Given the description of an element on the screen output the (x, y) to click on. 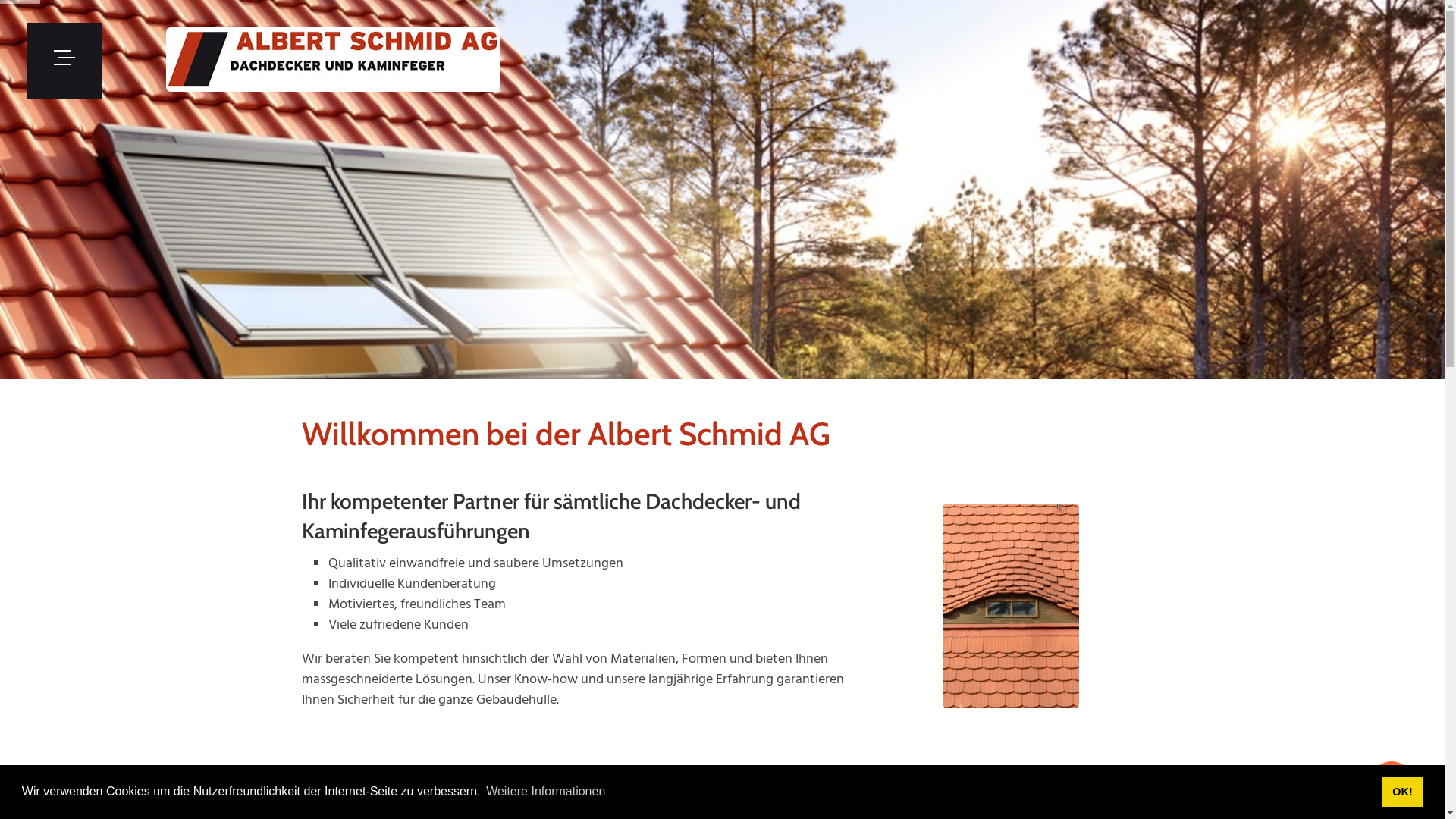
Weitere Informationen Element type: text (545, 791)
OK! Element type: text (1402, 791)
albertschmidag.ch Element type: hover (332, 60)
